Given the description of an element on the screen output the (x, y) to click on. 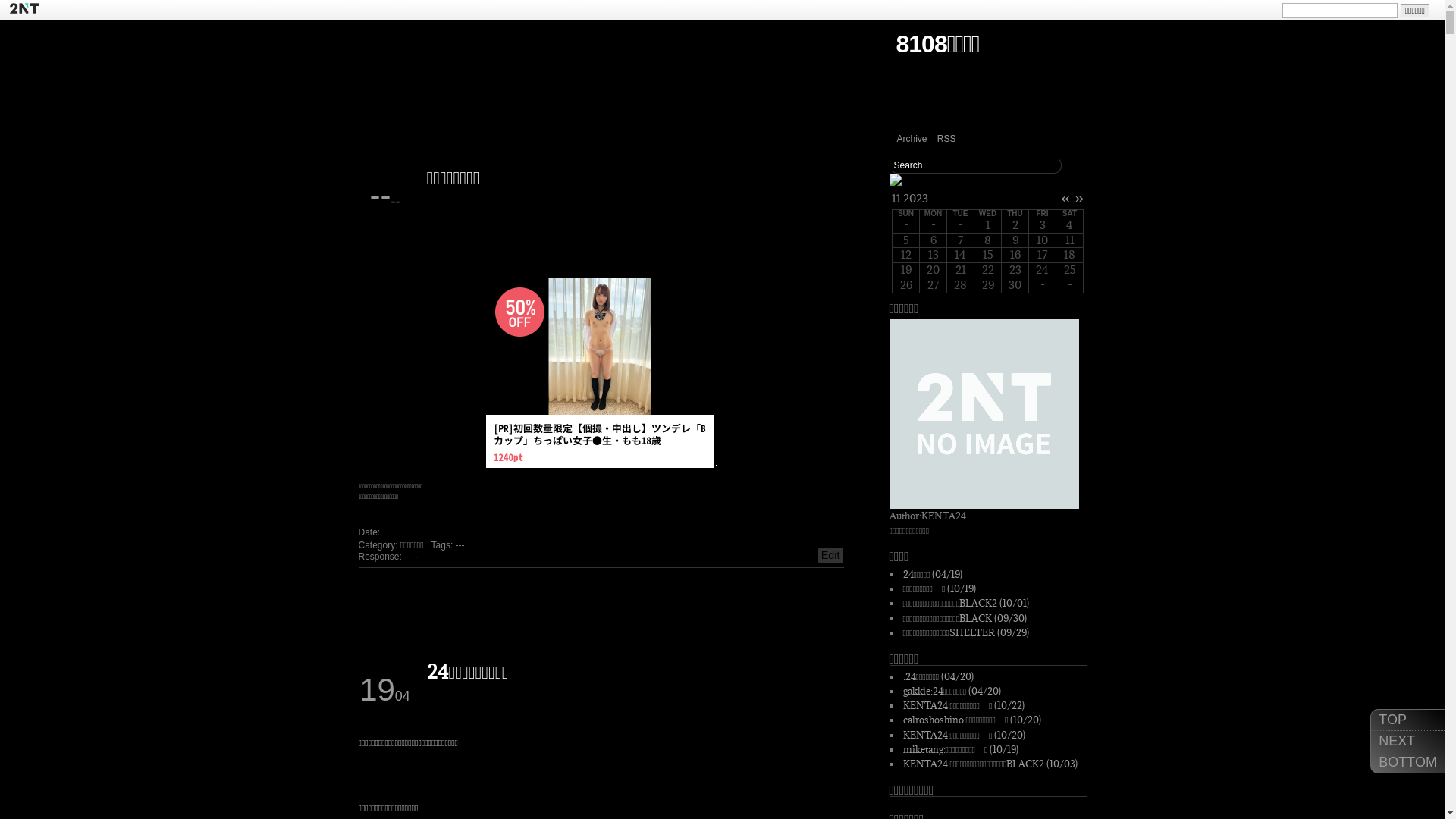
Edit Element type: text (830, 555)
-- -- -- -- Element type: text (401, 531)
---- Element type: text (385, 187)
Archive Element type: text (911, 138)
RSS Element type: text (946, 138)
1904 Element type: text (385, 681)
